Given the description of an element on the screen output the (x, y) to click on. 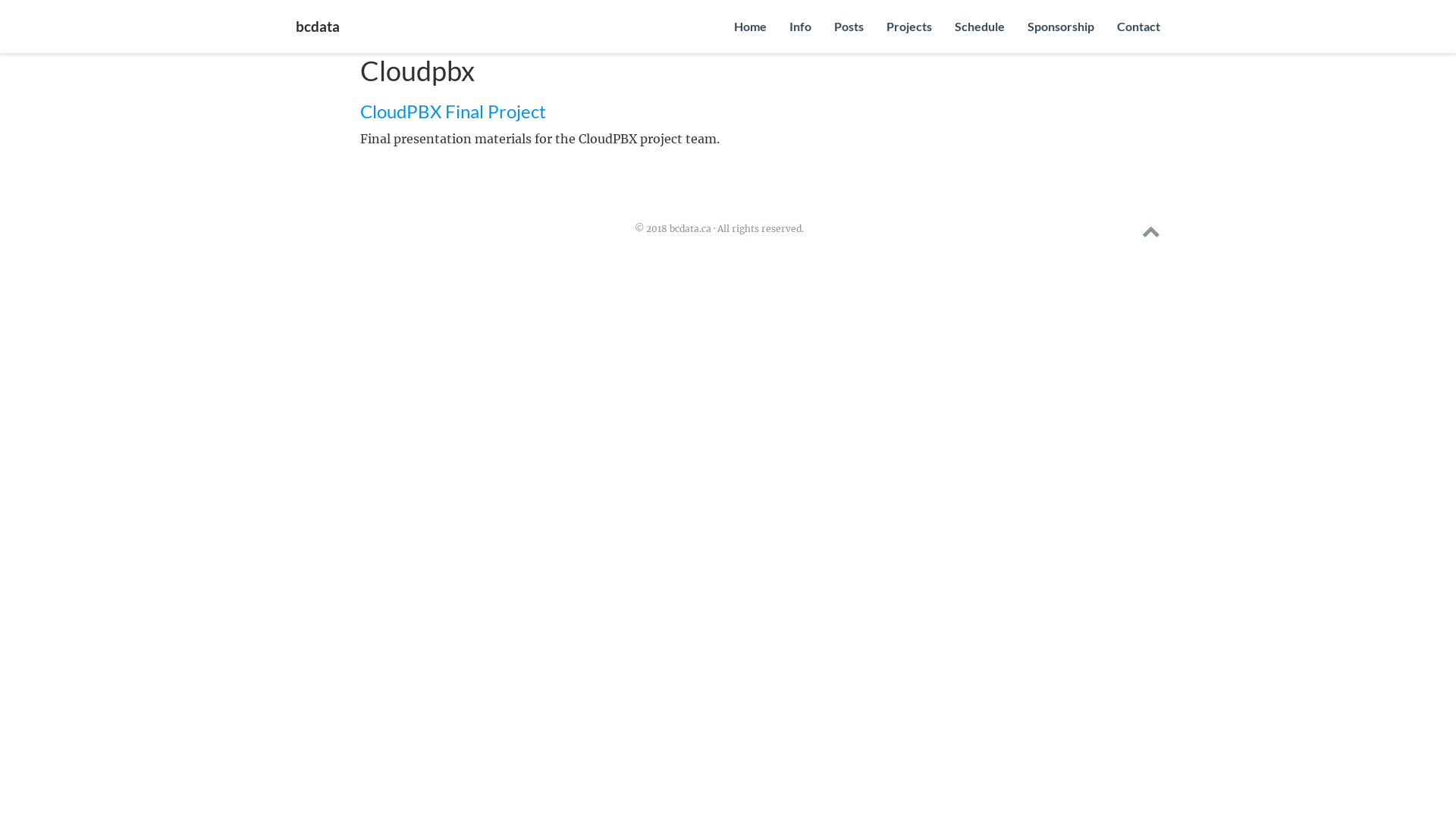
Contact Element type: text (1138, 26)
bcdata Element type: text (317, 26)
Schedule Element type: text (979, 26)
Home Element type: text (750, 26)
Posts Element type: text (848, 26)
Info Element type: text (800, 26)
Projects Element type: text (909, 26)
Sponsorship Element type: text (1060, 26)
CloudPBX Final Project Element type: text (453, 111)
